Given the description of an element on the screen output the (x, y) to click on. 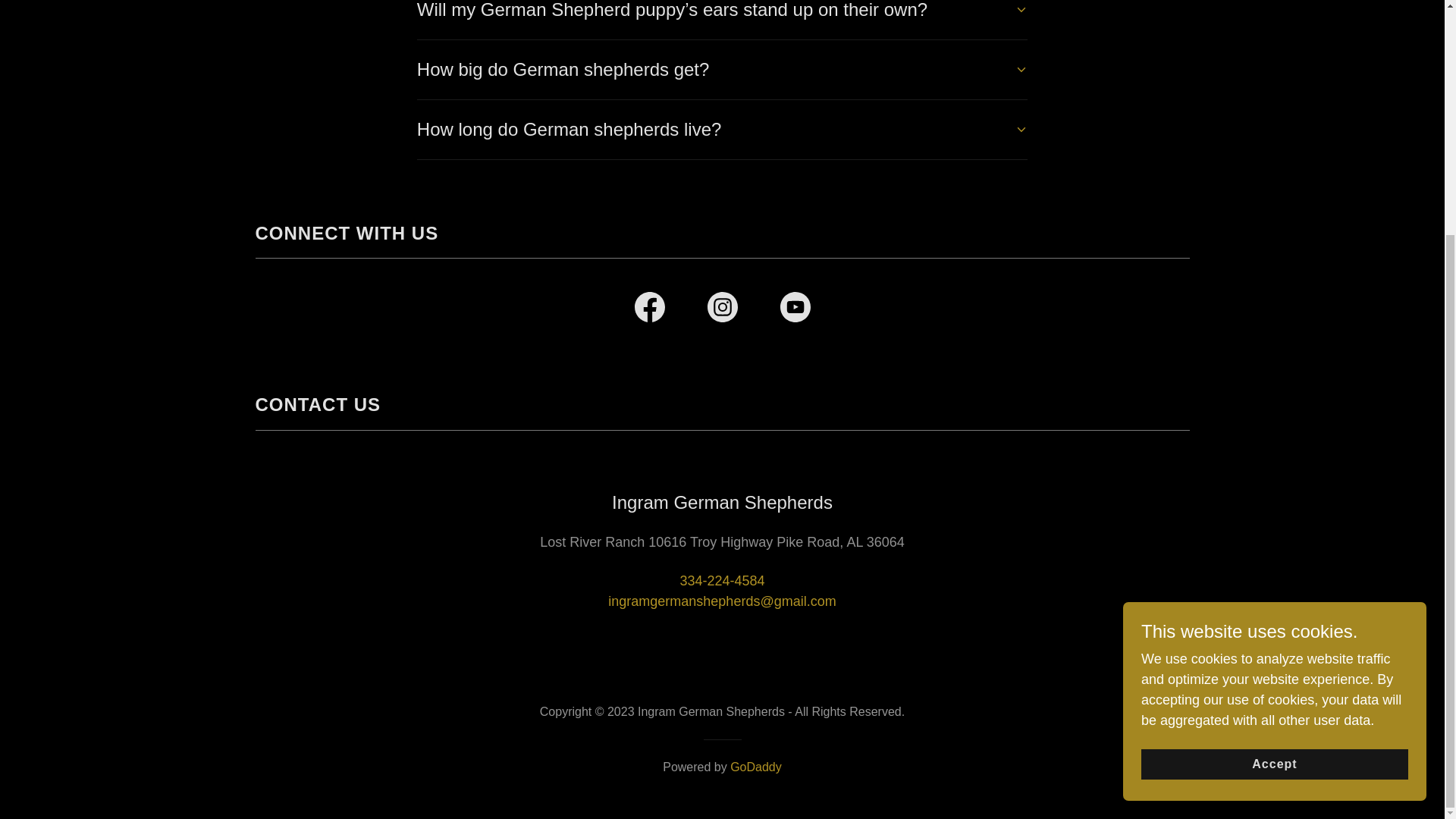
How long do German shepherds live? (721, 129)
Accept (1274, 444)
How big do German shepherds get? (721, 69)
GoDaddy (755, 766)
334-224-4584 (721, 580)
